Given the description of an element on the screen output the (x, y) to click on. 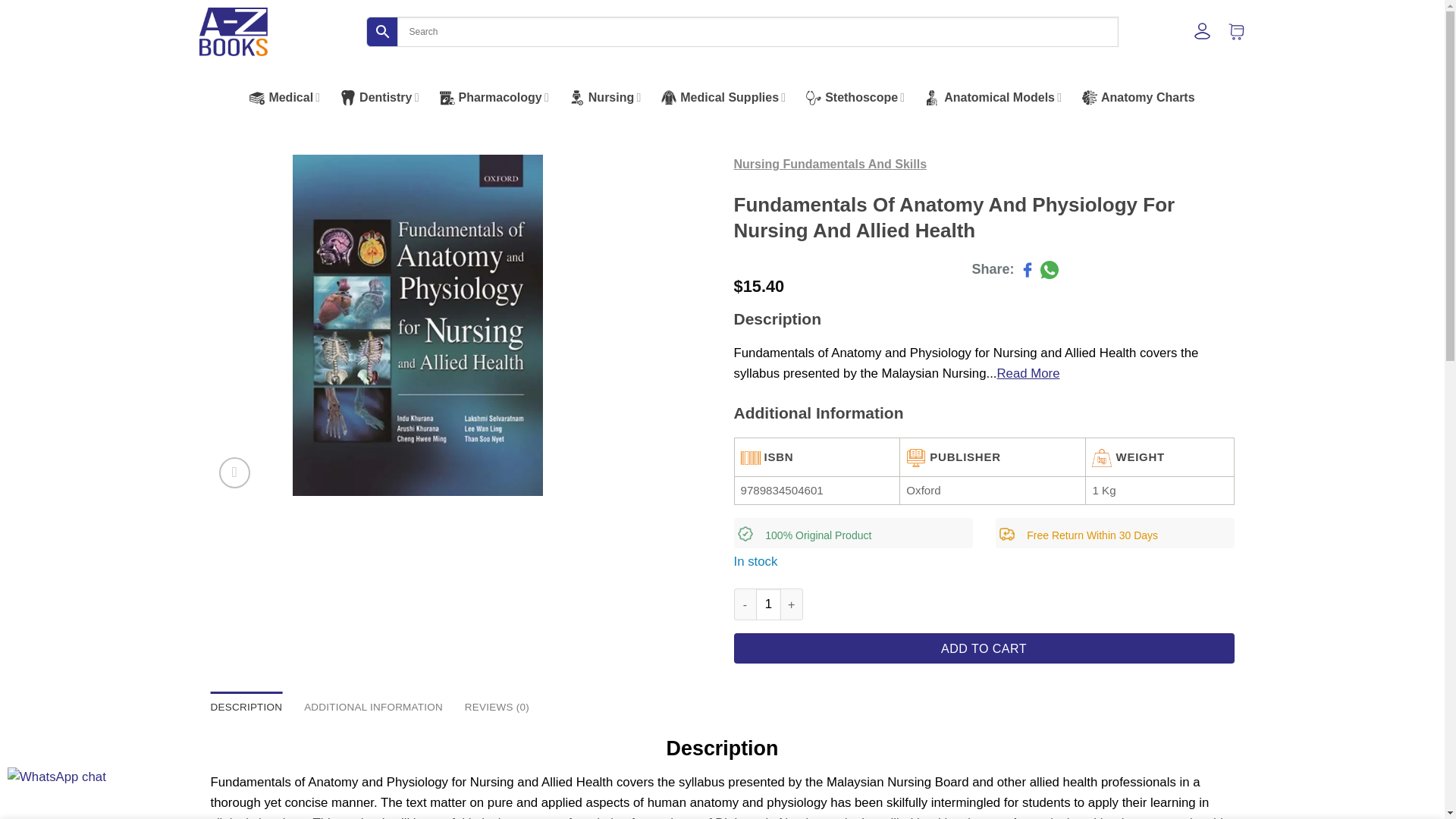
Zoom (234, 472)
Medical (286, 97)
A-Z Bookstore - Largest Academic Bookstore in Malaysia (232, 31)
